Given the description of an element on the screen output the (x, y) to click on. 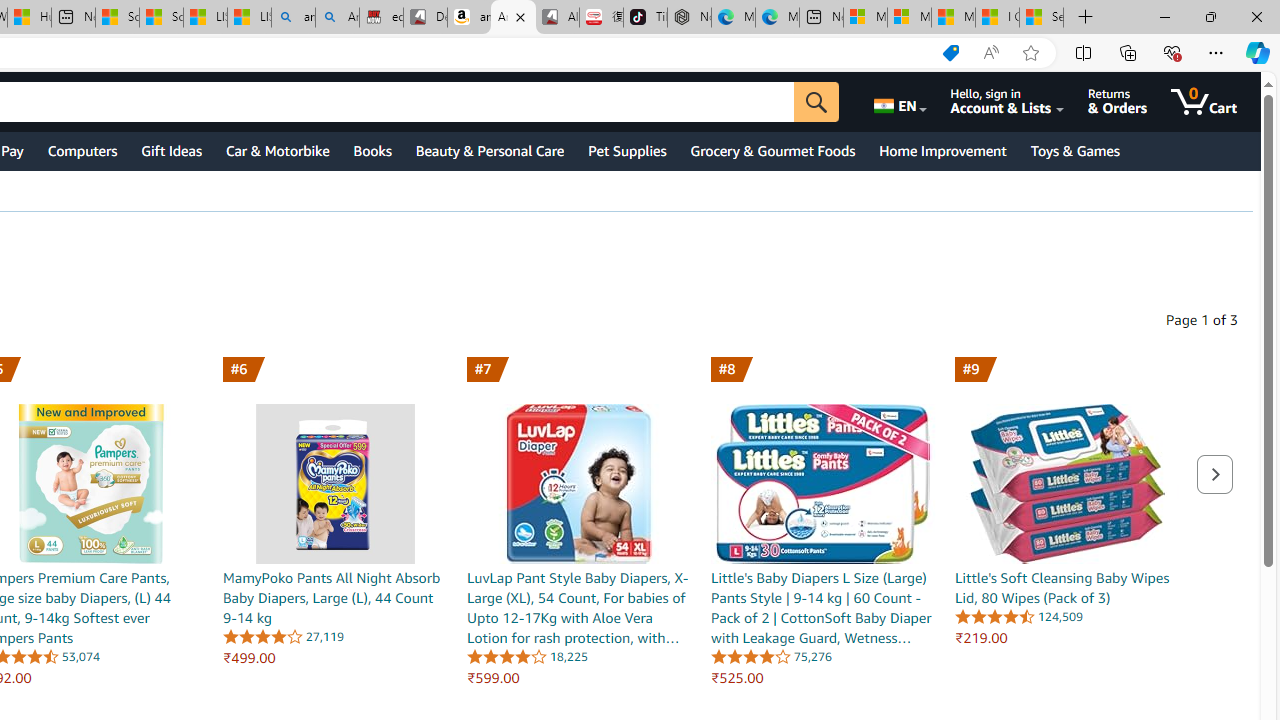
Toys & Games (1074, 150)
Beauty & Personal Care (490, 150)
